Given the description of an element on the screen output the (x, y) to click on. 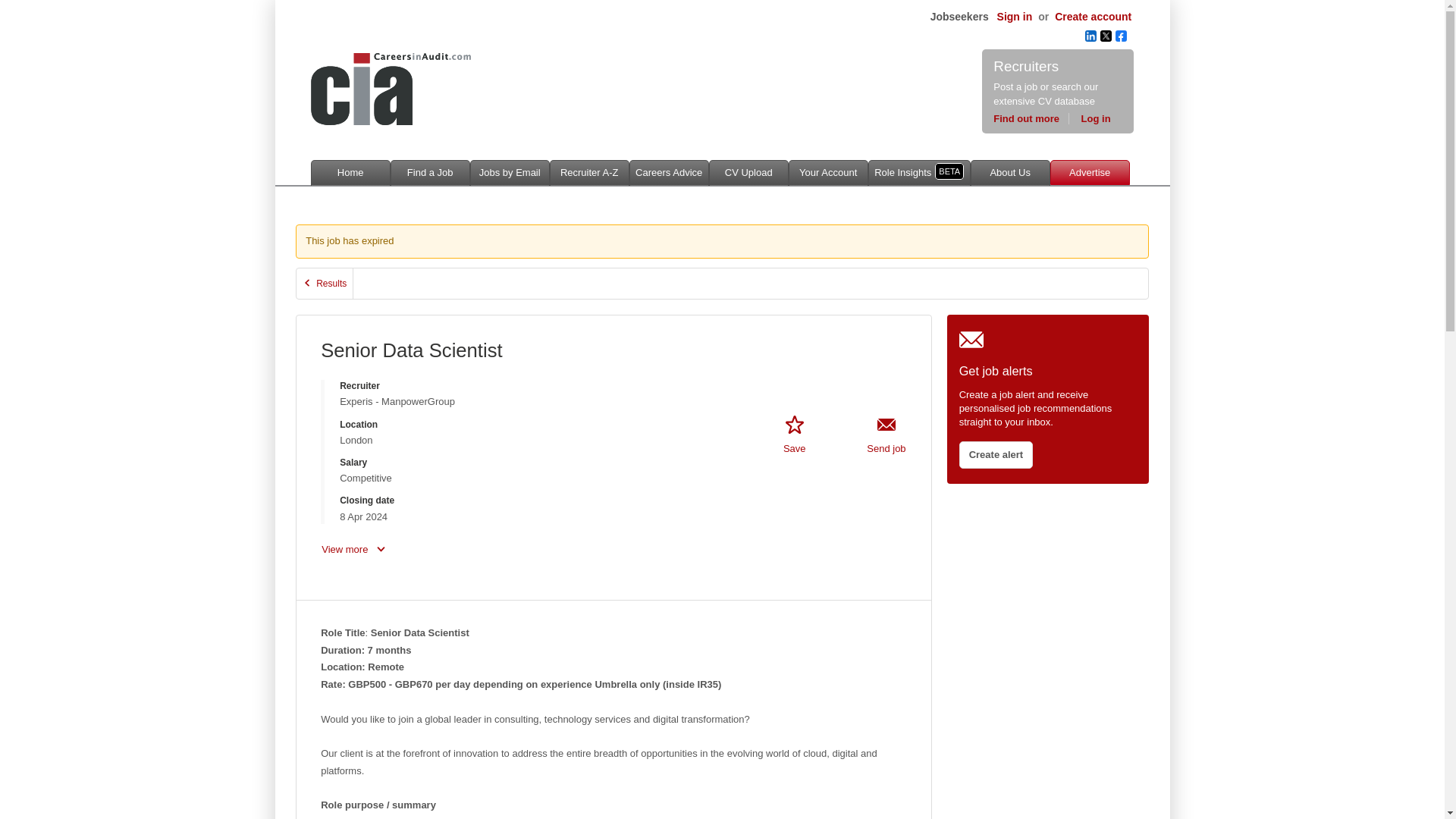
View more (352, 549)
Role InsightsBETA (919, 172)
Jobs by Email (510, 172)
Sign in (1013, 17)
Recruiter A-Z (589, 172)
3rd party ad content (721, 72)
Home (350, 172)
About Us (1010, 172)
Log in (1095, 118)
Careers Advice (668, 172)
CareersinAudit.com (390, 89)
Find out more (1030, 118)
Create account (1093, 17)
Find a Job (430, 172)
Advertise (1089, 172)
